Given the description of an element on the screen output the (x, y) to click on. 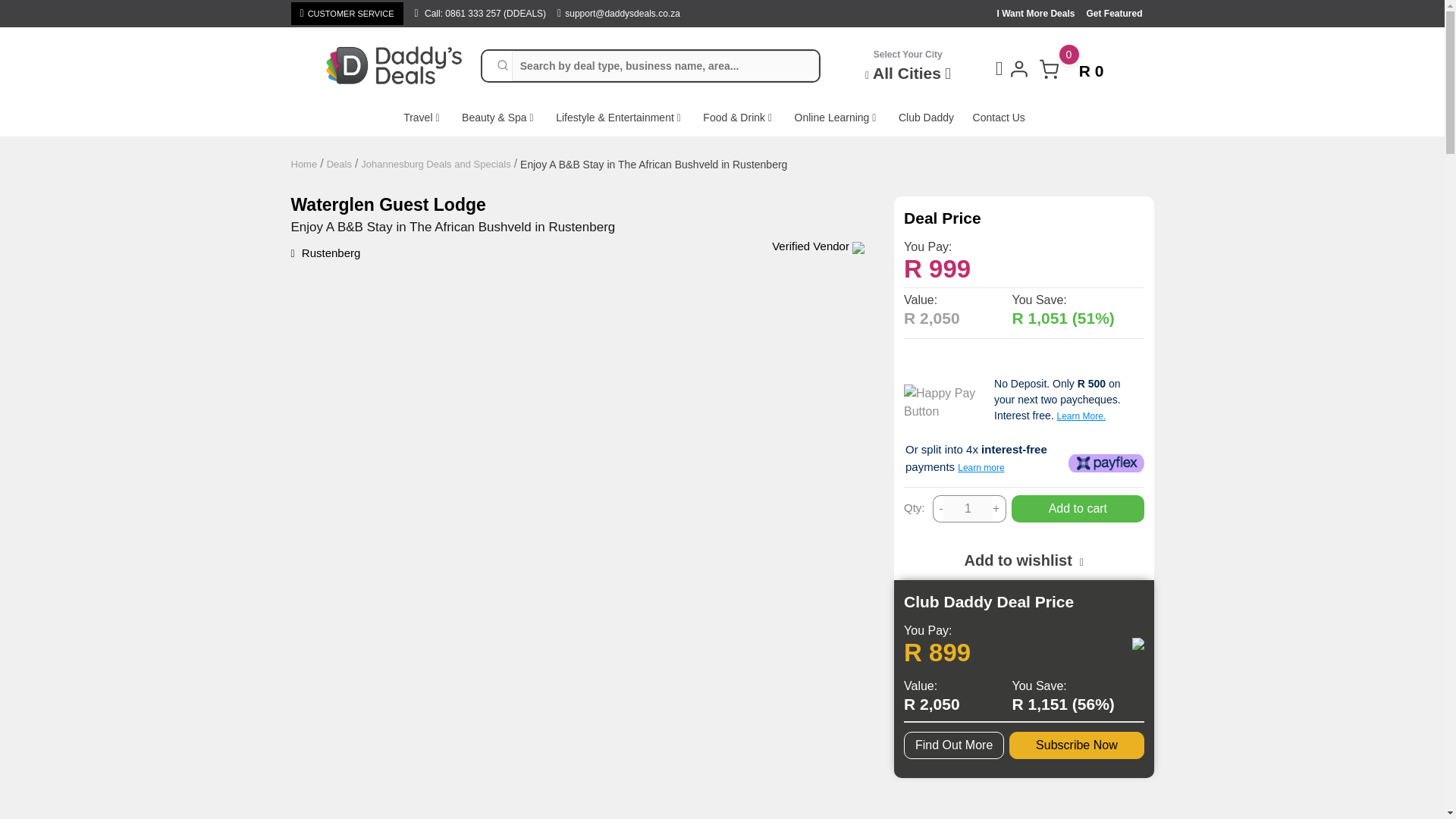
Get Featured (1119, 13)
1 (967, 508)
CUSTOMER SERVICE (1071, 68)
Qty (346, 13)
View your shopping cart (967, 508)
I Want More Deals (1071, 68)
